Given the description of an element on the screen output the (x, y) to click on. 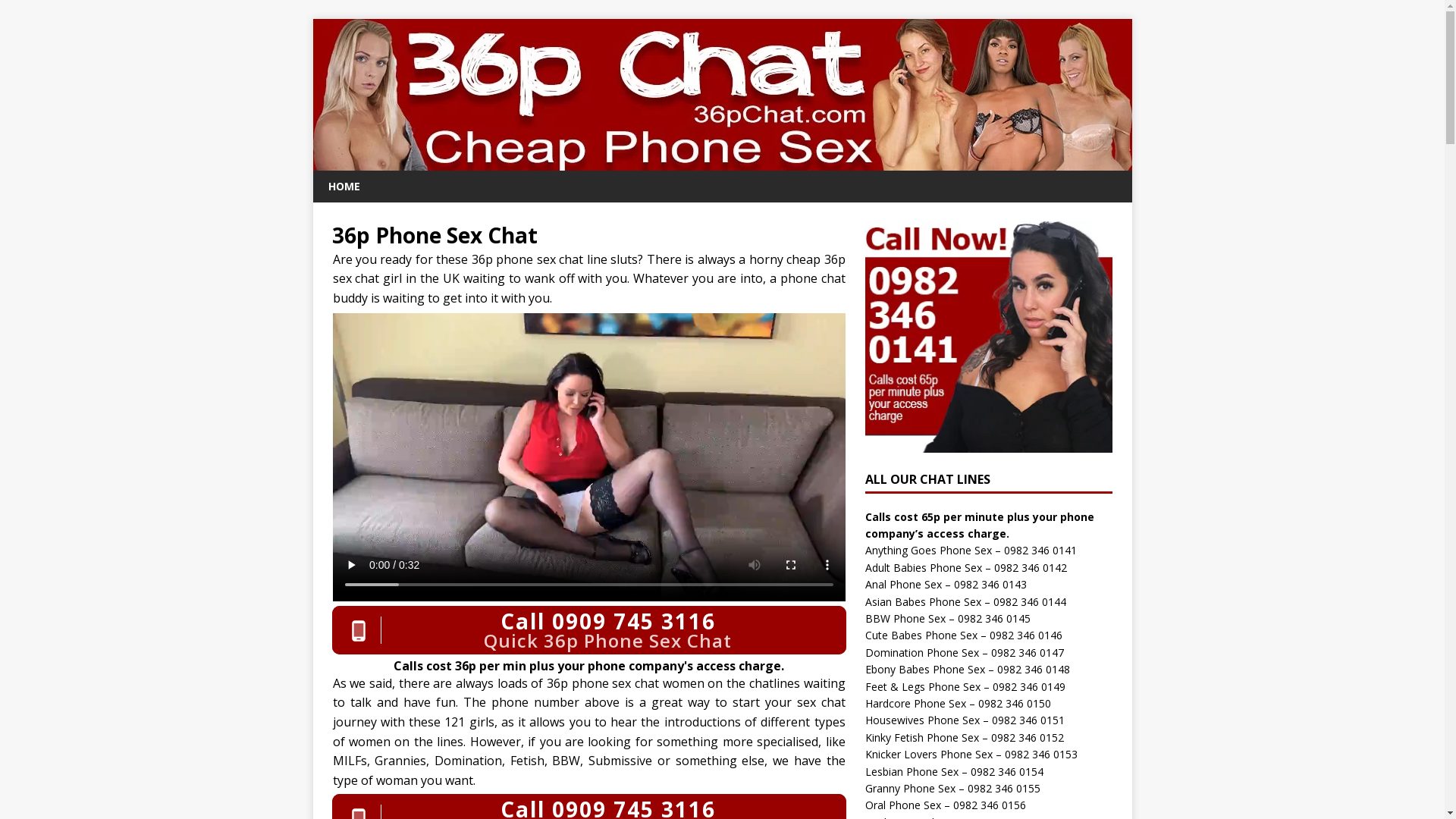
36p Chat Element type: hover (721, 161)
Call 0909 745 3116
Quick 36p Phone Sex Chat Element type: text (589, 629)
HOME Element type: text (343, 186)
